Given the description of an element on the screen output the (x, y) to click on. 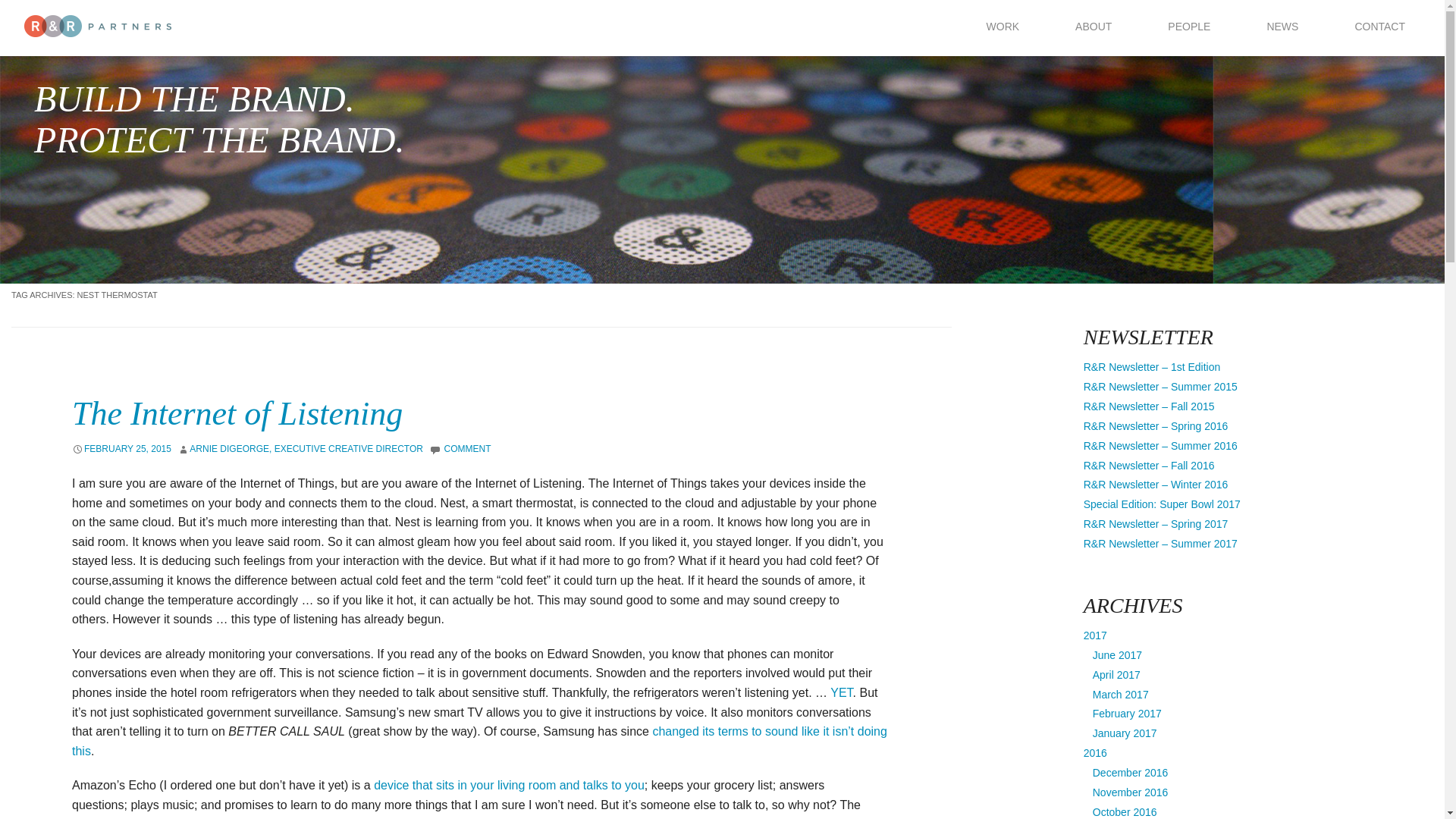
Alexa (509, 784)
February 2017 (1127, 713)
April 2017 (1116, 674)
COMMENT (468, 448)
Refrigerators that listen (840, 692)
CONTACT (1380, 26)
Special Edition: Super Bowl 2017 (1161, 503)
Permalink to The Internet of Listening (237, 413)
March 2017 (1120, 694)
FEBRUARY 25, 2015 (127, 448)
